Given the description of an element on the screen output the (x, y) to click on. 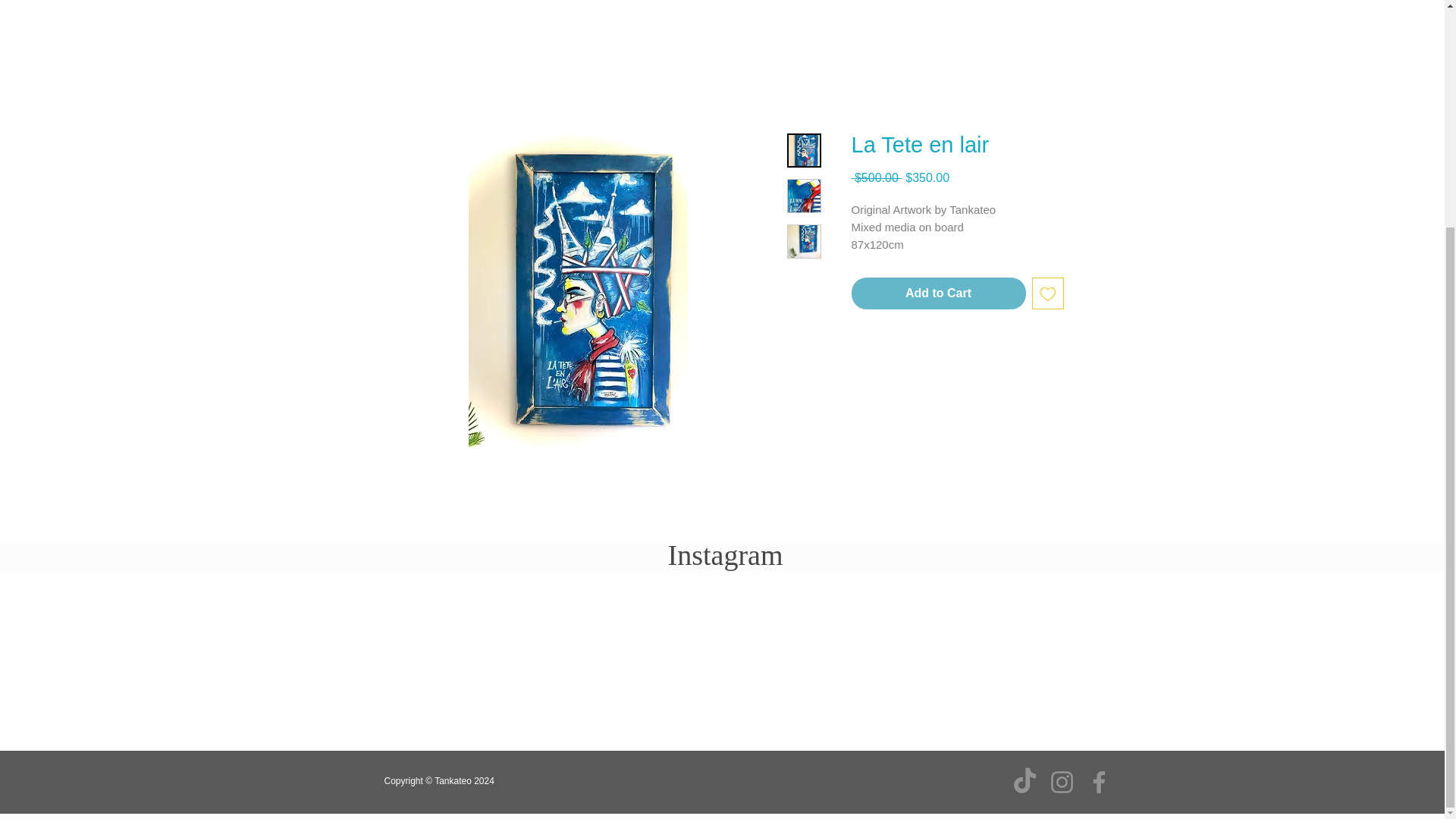
Add to Cart (937, 293)
